Given the description of an element on the screen output the (x, y) to click on. 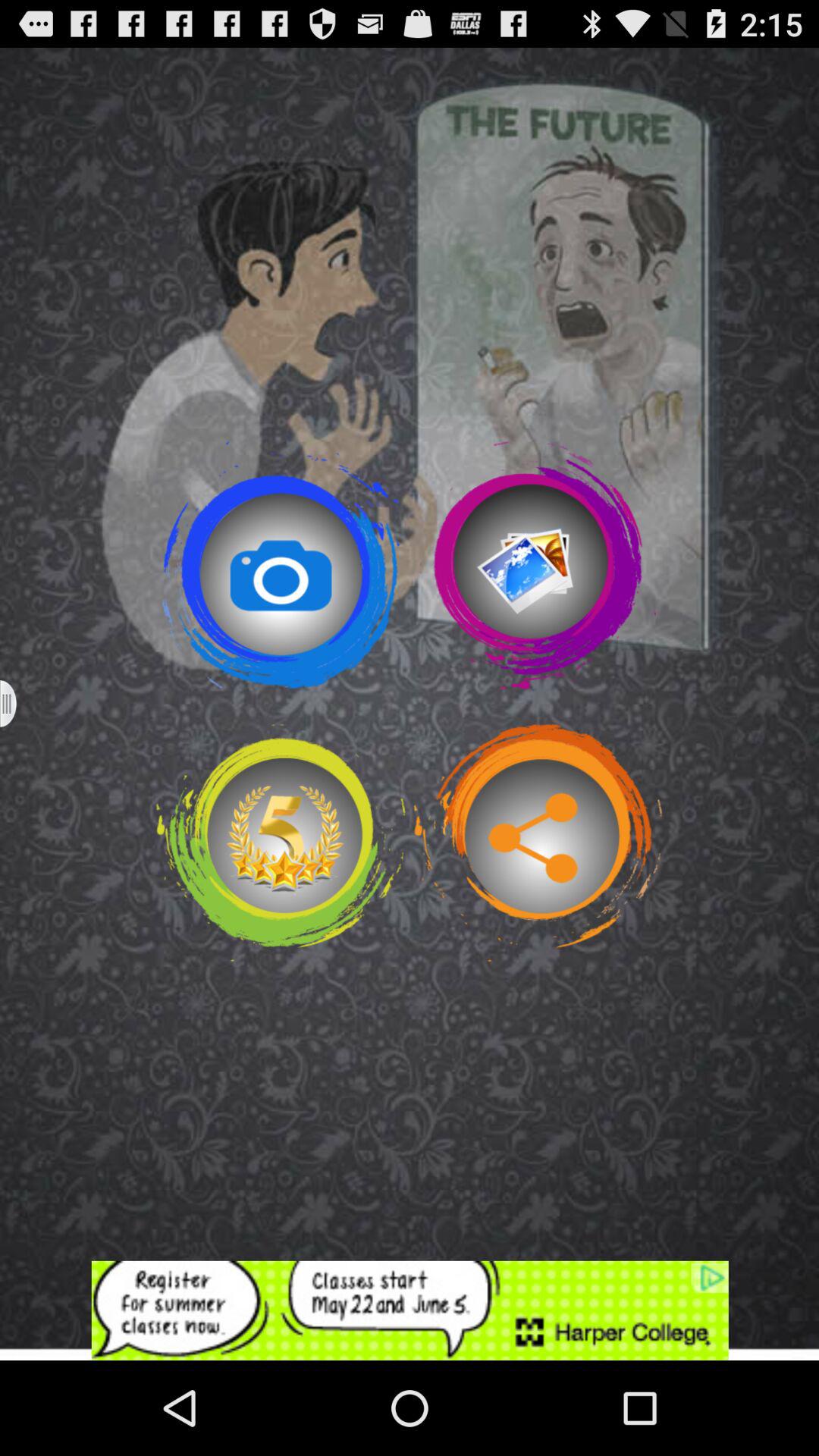
open menu (18, 703)
